Given the description of an element on the screen output the (x, y) to click on. 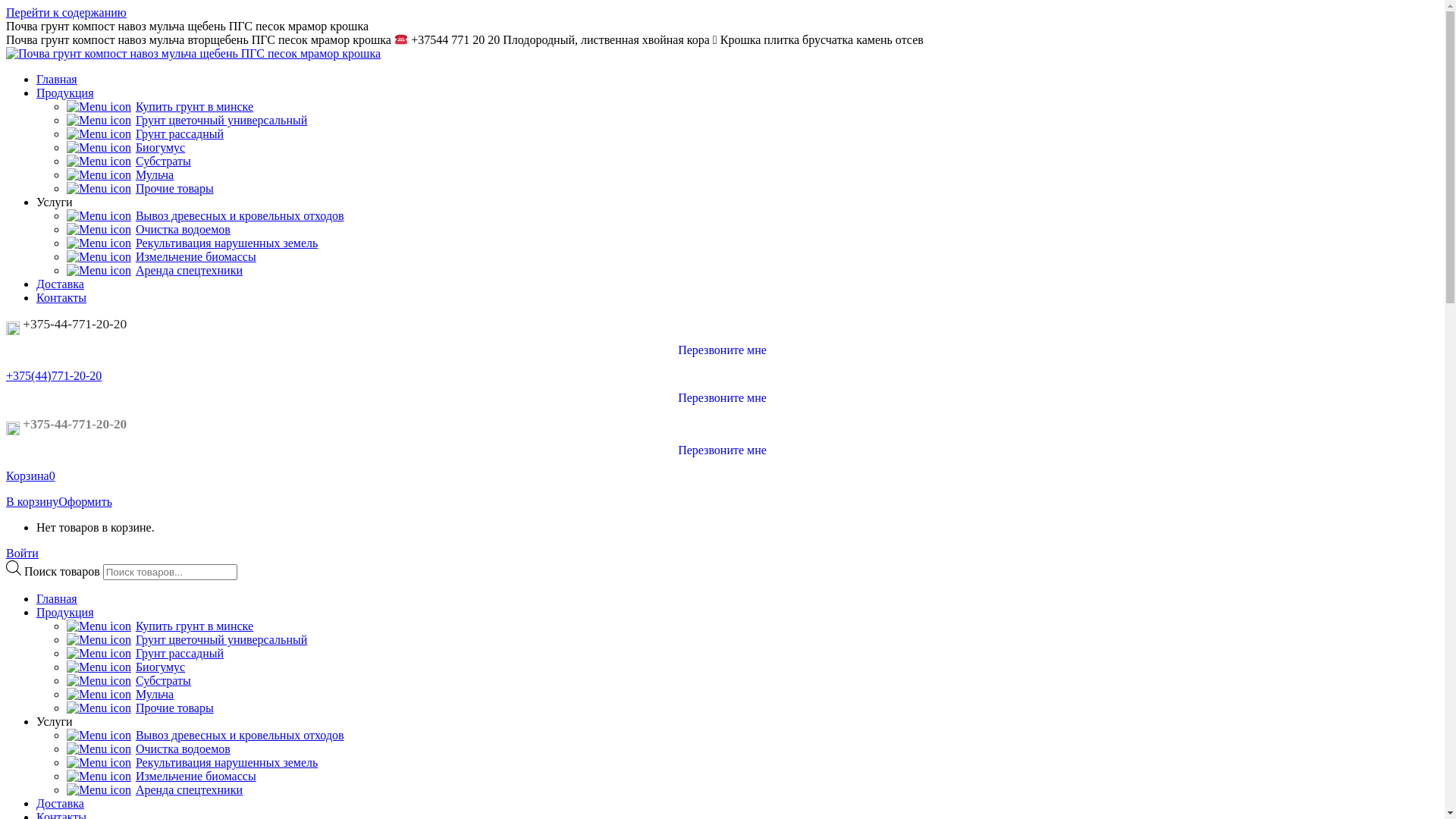
+375-44-771-20-20 Element type: text (66, 423)
+375-44-771-20-20 Element type: text (66, 323)
+375(44)771-20-20 Element type: text (53, 375)
